Given the description of an element on the screen output the (x, y) to click on. 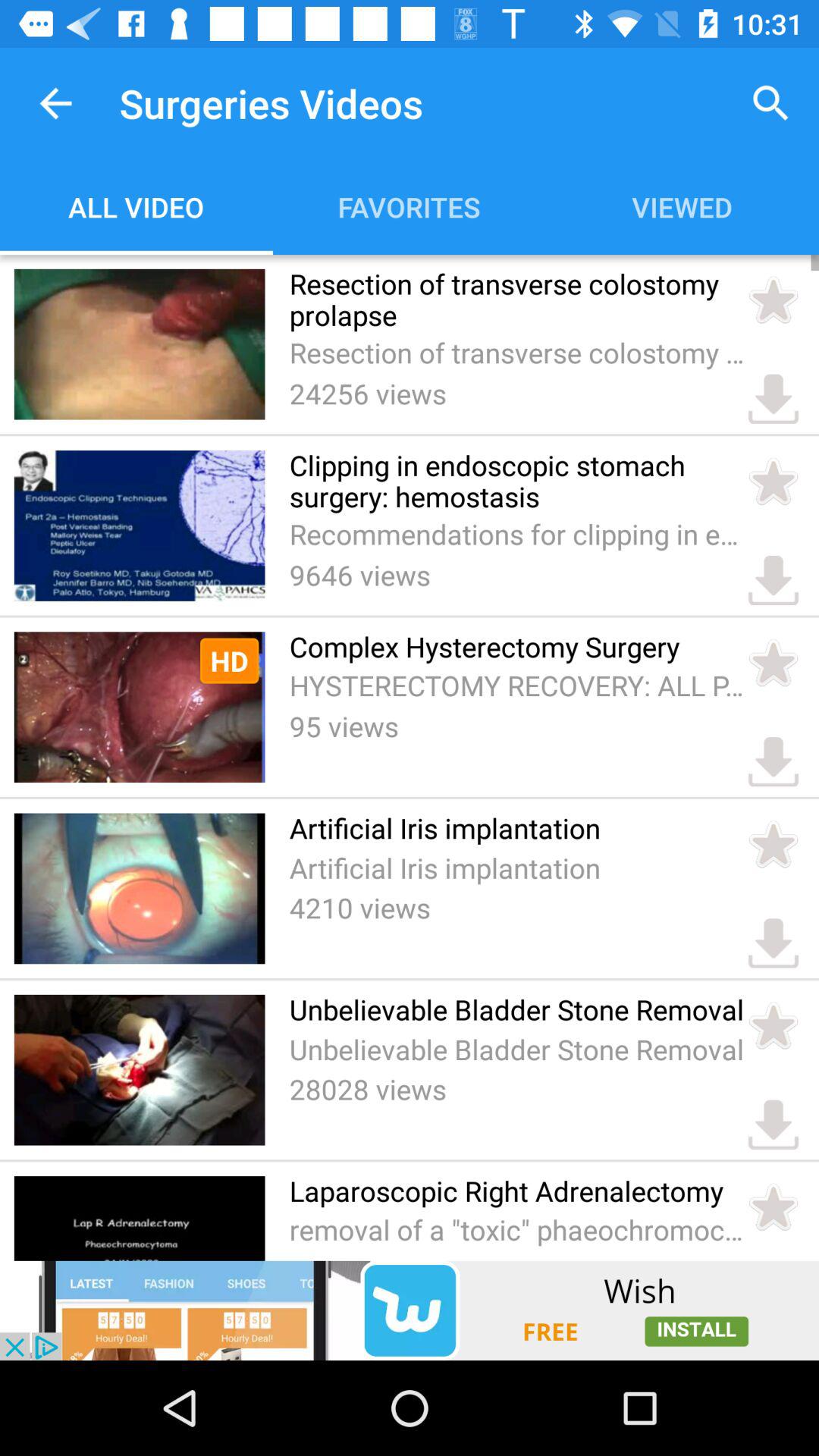
click on star icon for 5 th image (773, 1026)
